Given the description of an element on the screen output the (x, y) to click on. 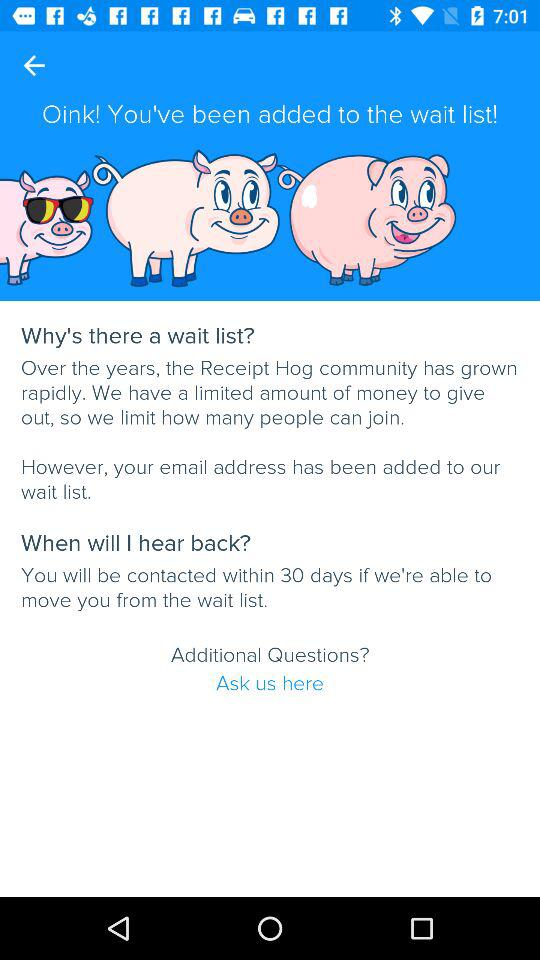
select item below additional questions? (269, 683)
